Given the description of an element on the screen output the (x, y) to click on. 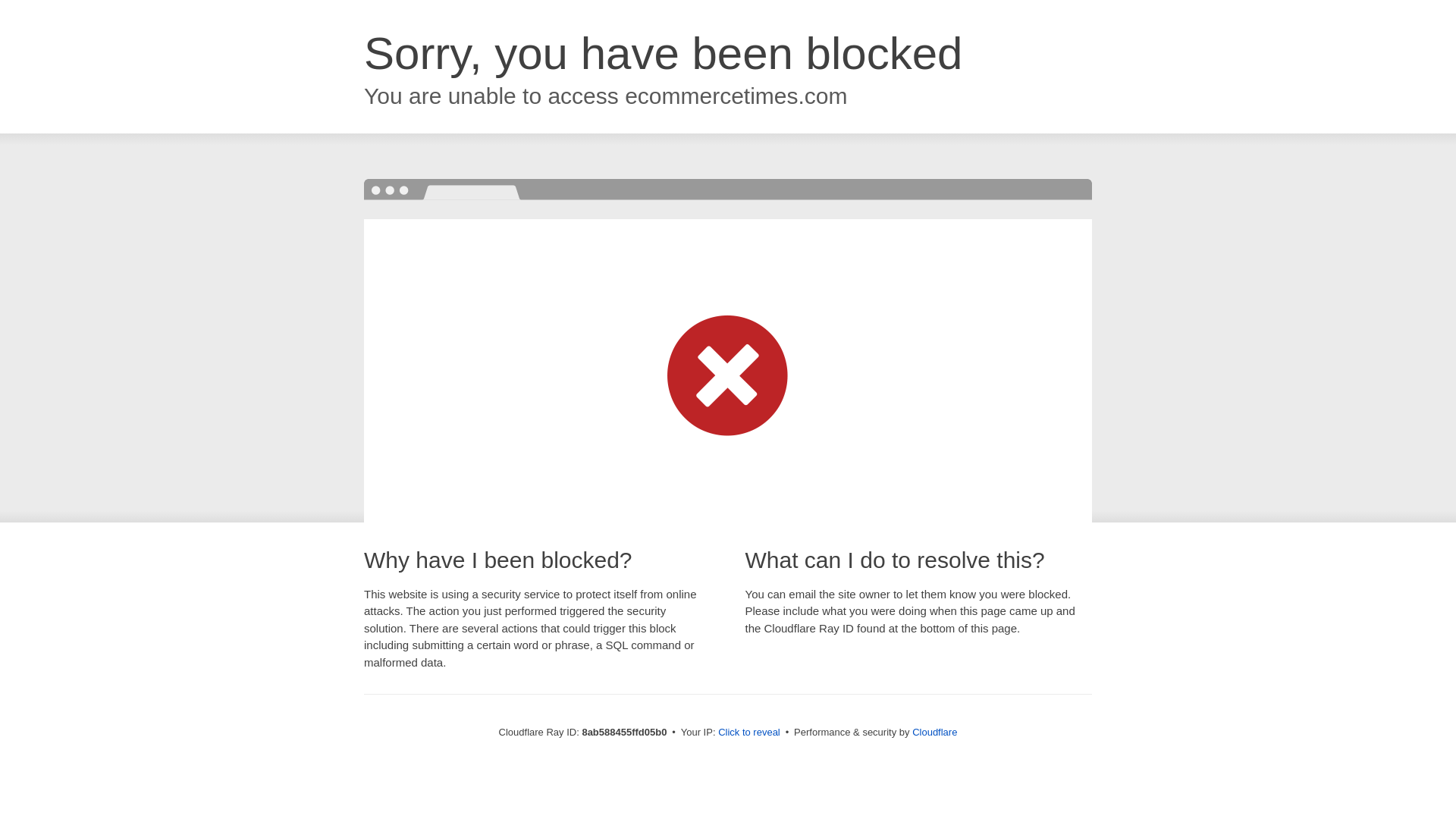
Cloudflare (934, 731)
Click to reveal (748, 732)
